Given the description of an element on the screen output the (x, y) to click on. 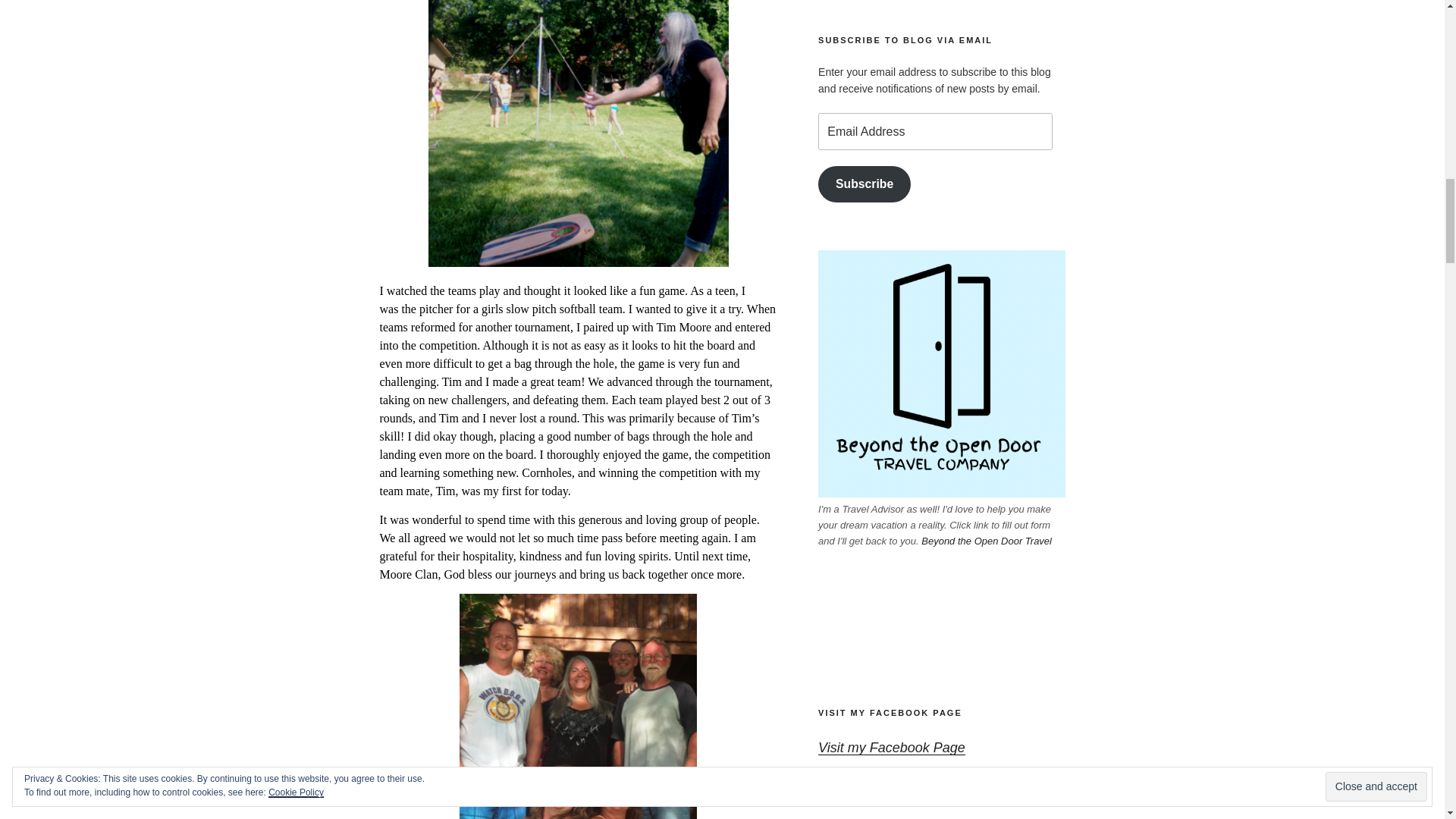
Subscribe (864, 184)
Beyond the Open Door Travel (986, 541)
Visit my Facebook Page (891, 747)
VISIT MY FACEBOOK PAGE (890, 712)
